Given the description of an element on the screen output the (x, y) to click on. 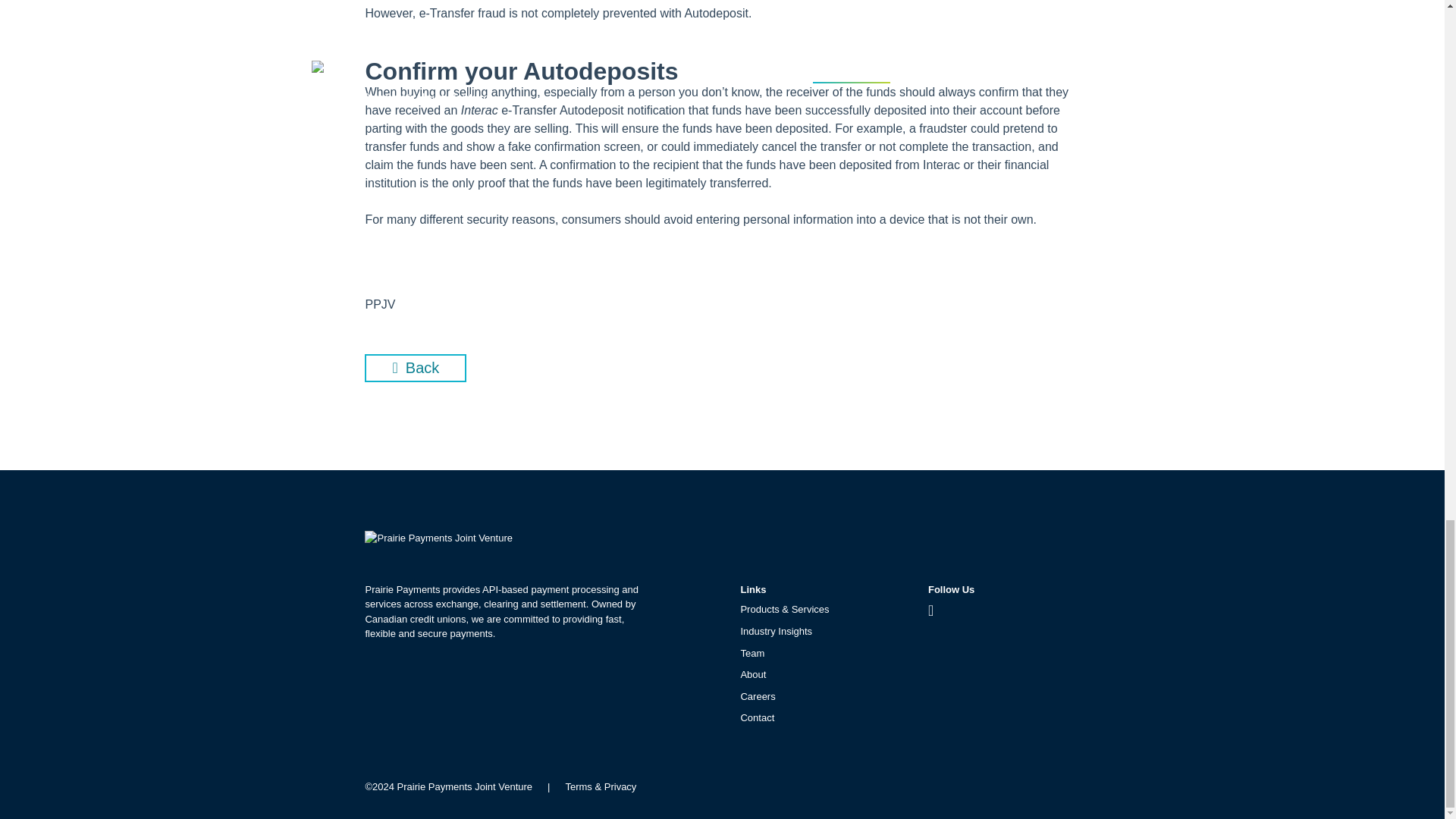
Industry Insights (415, 367)
Industry Insights (775, 631)
Team (751, 653)
About (752, 674)
Contact (756, 717)
Careers (756, 696)
Back (415, 367)
